Given the description of an element on the screen output the (x, y) to click on. 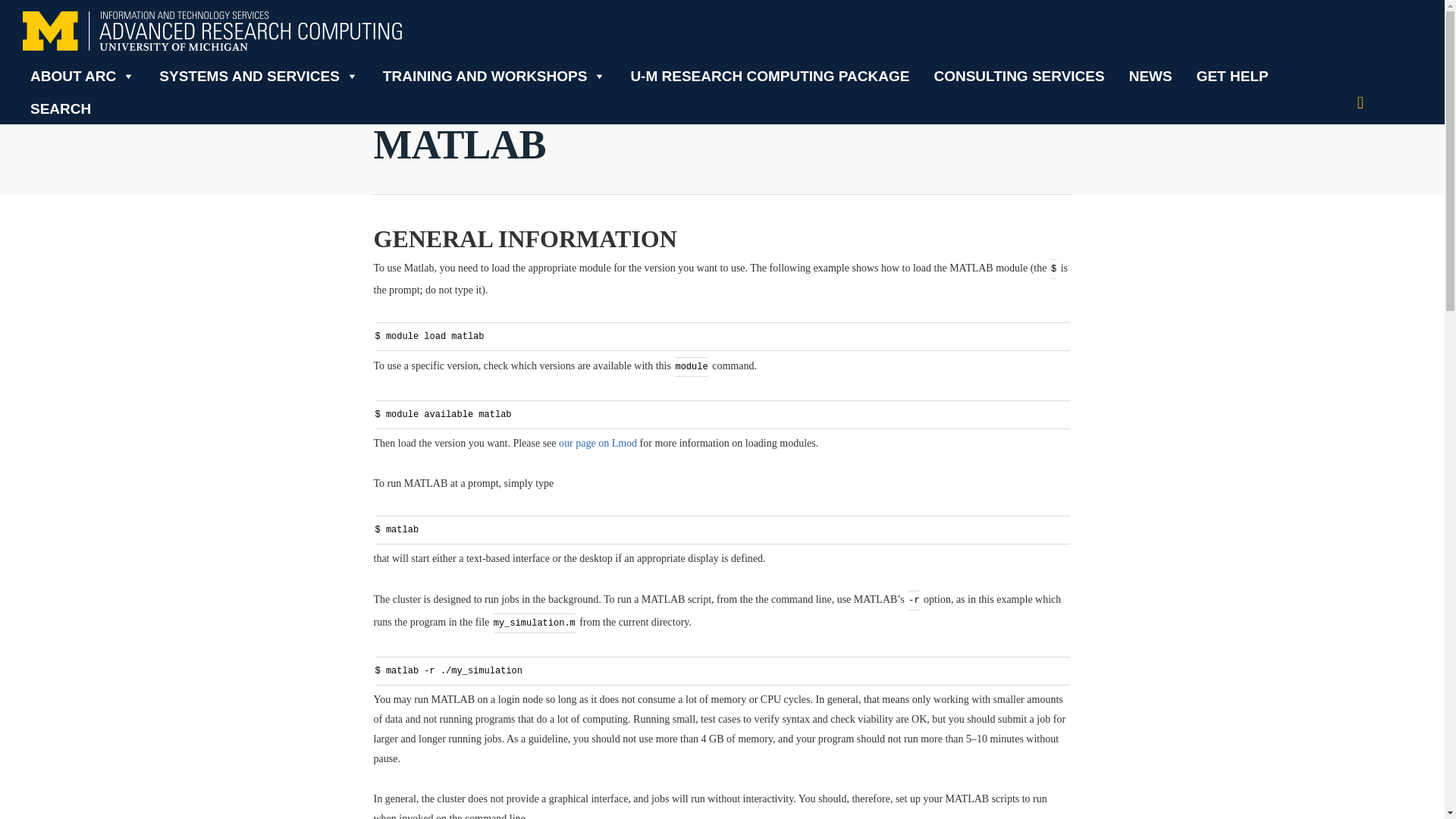
GET HELP (1232, 75)
Skip to main content (43, 9)
TRAINING AND WORKSHOPS (494, 75)
ABOUT ARC (82, 75)
U-M RESEARCH COMPUTING PACKAGE (770, 75)
CONSULTING SERVICES (1019, 75)
NEWS (1150, 75)
SYSTEMS AND SERVICES (258, 75)
